Given the description of an element on the screen output the (x, y) to click on. 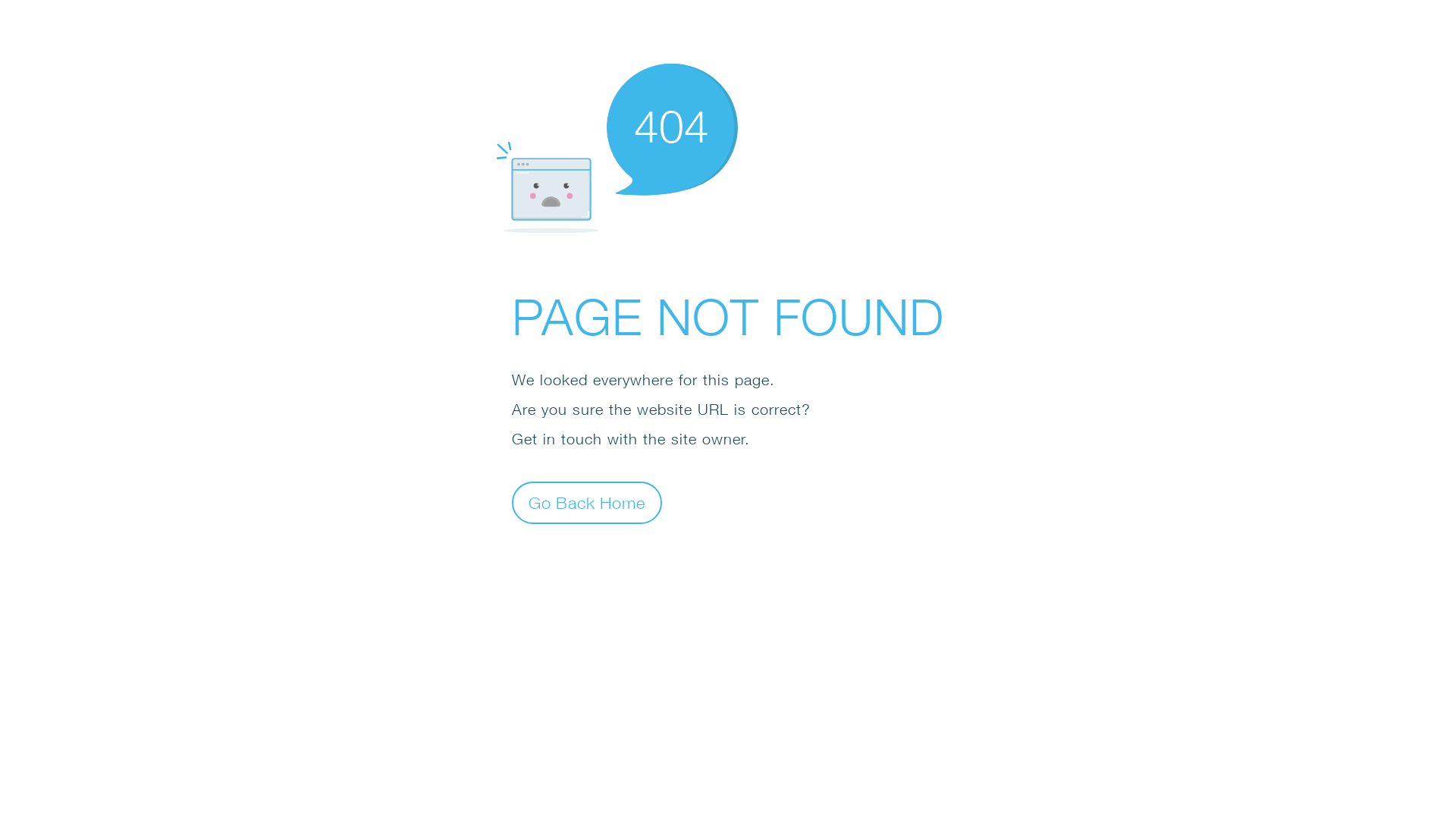
Go Back Home Element type: text (586, 502)
